Given the description of an element on the screen output the (x, y) to click on. 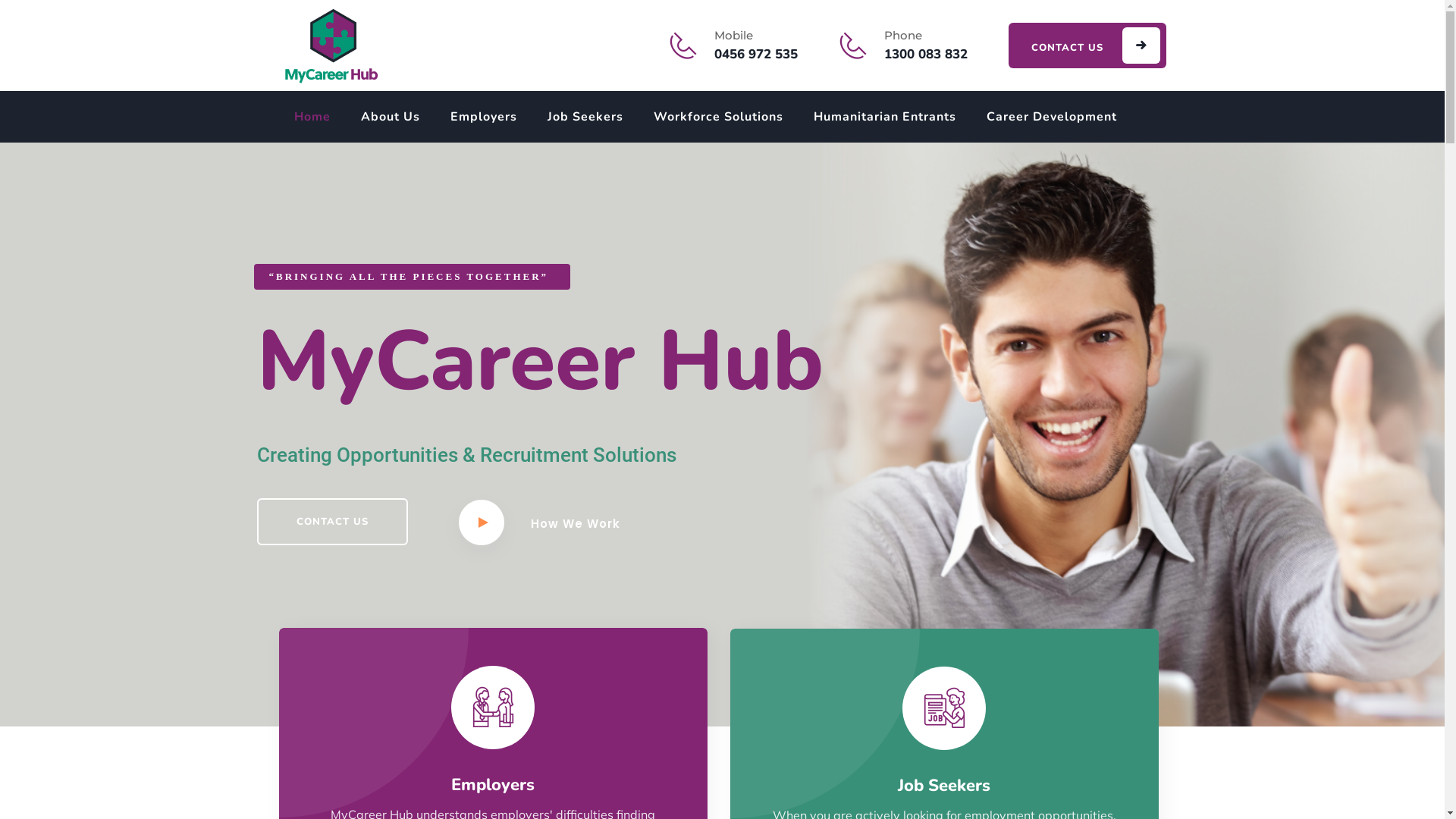
CONTACT US Element type: text (331, 521)
CONTACT US Element type: text (1087, 45)
About Us Element type: text (390, 116)
Phone
1300 083 832 Element type: text (925, 44)
Employers Element type: text (483, 116)
Workforce Solutions Element type: text (718, 116)
My Career Hub Element type: hover (331, 45)
Mobile
0456 972 535 Element type: text (755, 44)
Career Development Element type: text (1050, 116)
Job Seekers Element type: text (585, 116)
Home Element type: text (312, 116)
Humanitarian Entrants Element type: text (883, 116)
